Given the description of an element on the screen output the (x, y) to click on. 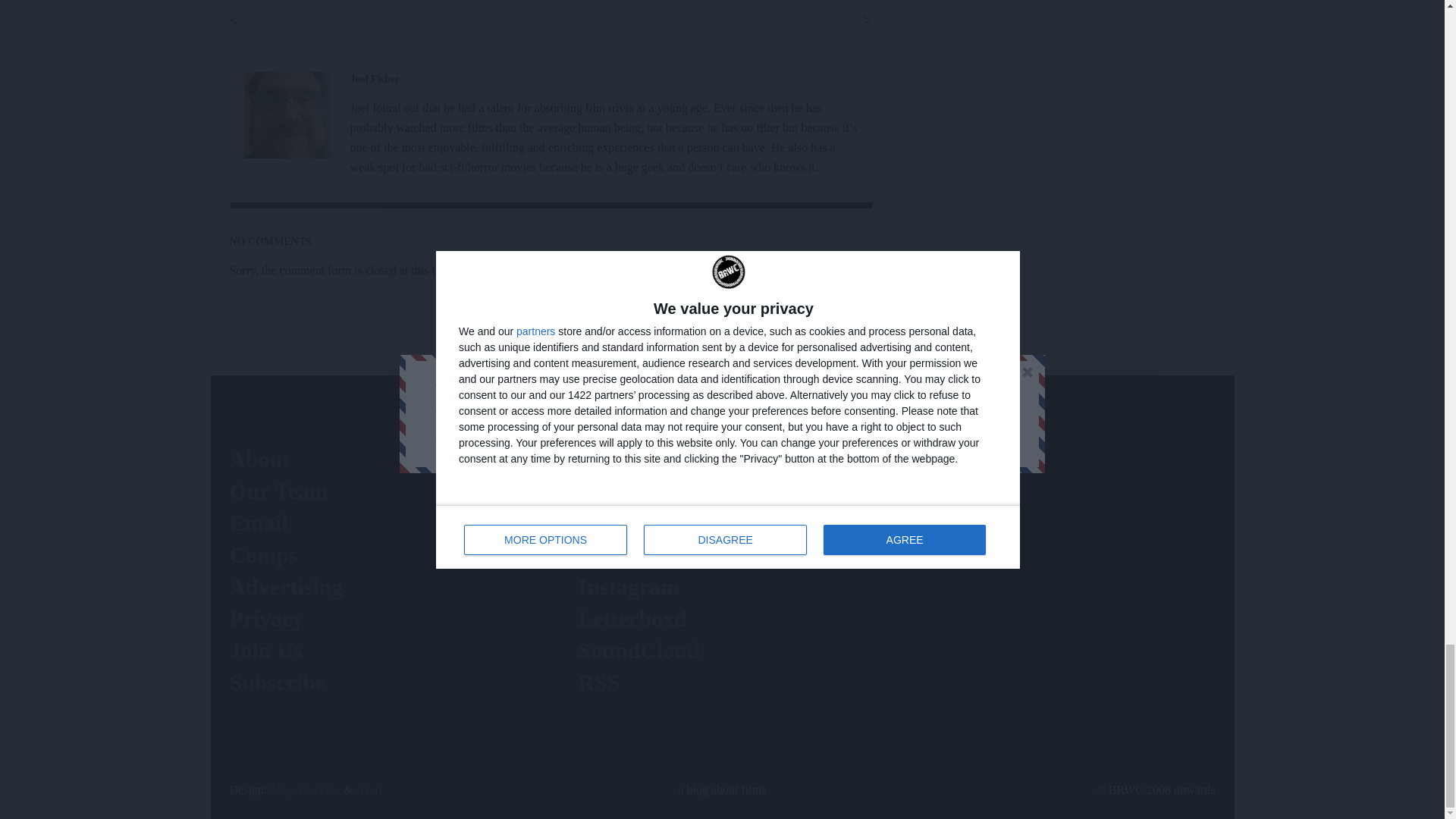
French Exit: Review (287, 115)
French Exit: Review (375, 79)
